Given the description of an element on the screen output the (x, y) to click on. 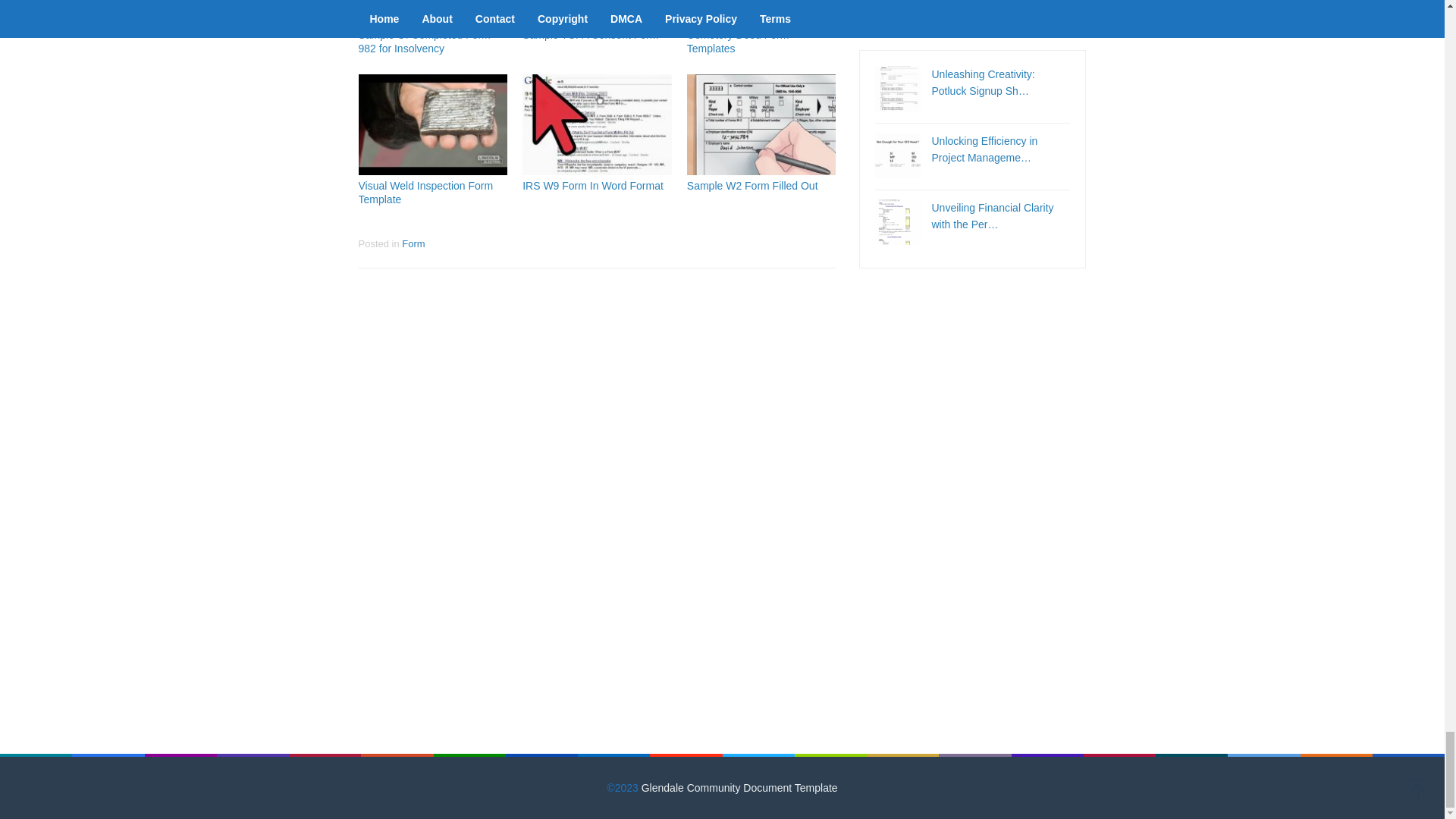
IRS W9 Form In Word Format (592, 185)
Visual Weld Inspection Form Template (425, 192)
Sample W2 Form Filled Out (752, 185)
Form (413, 243)
Sample Of Completed Form 982 for Insolvency (423, 41)
Cemetery Deed Form Templates (738, 41)
Sample TCPA Consent Form (590, 34)
